Given the description of an element on the screen output the (x, y) to click on. 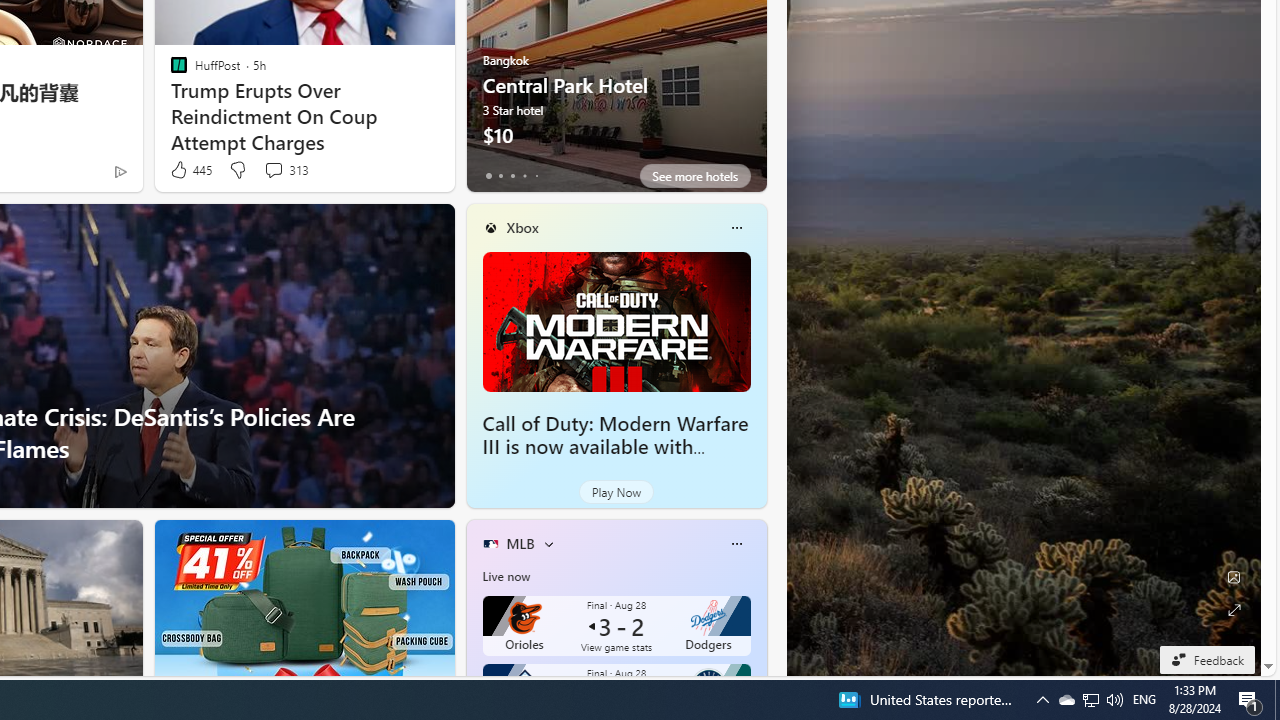
tab-3 (524, 175)
Ad Choice (119, 171)
View comments 313 Comment (273, 169)
See more hotels (694, 175)
tab-4 (535, 175)
Edit Background (1233, 577)
More interests (548, 543)
tab-1 (500, 175)
More options (736, 543)
Class: icon-img (736, 543)
Dislike (237, 170)
MLB (520, 543)
